Given the description of an element on the screen output the (x, y) to click on. 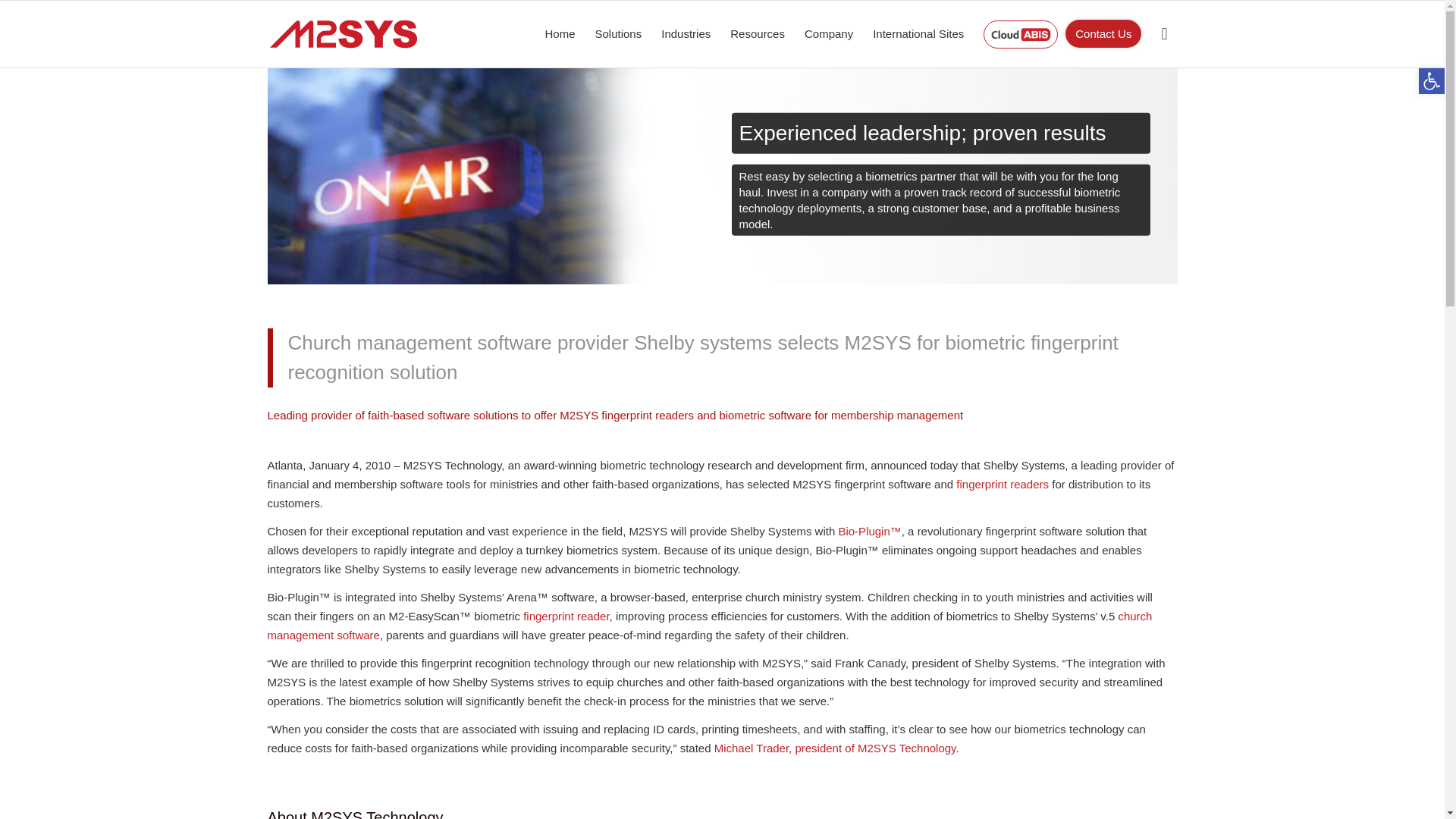
Industries (685, 33)
Solutions (618, 33)
Accessibility Tools (1431, 81)
